Given the description of an element on the screen output the (x, y) to click on. 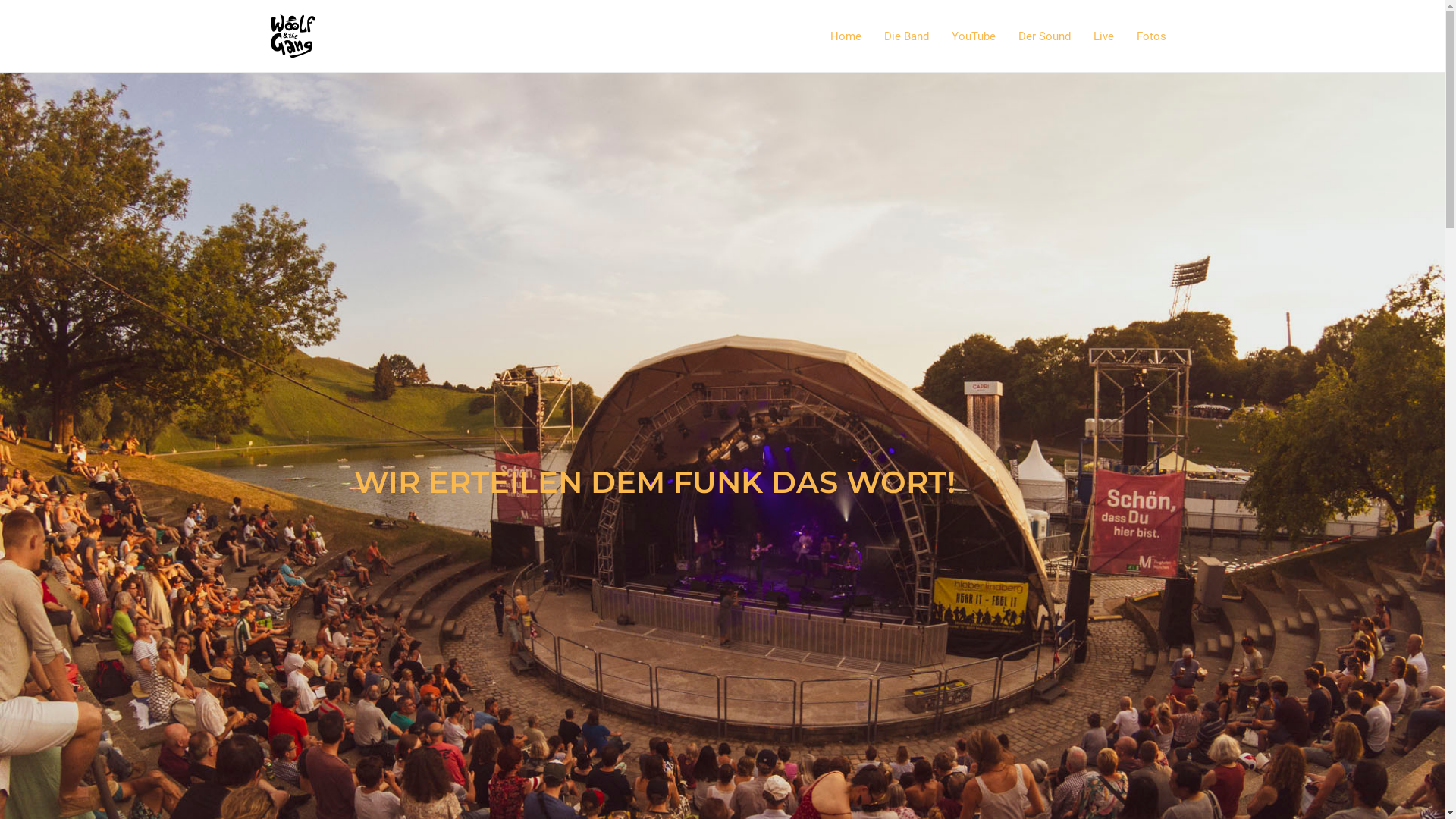
Live Element type: text (1102, 35)
Home Element type: text (845, 35)
Die Band Element type: text (905, 35)
Fotos Element type: text (1151, 35)
Der Sound Element type: text (1044, 35)
YouTube Element type: text (973, 35)
